Given the description of an element on the screen output the (x, y) to click on. 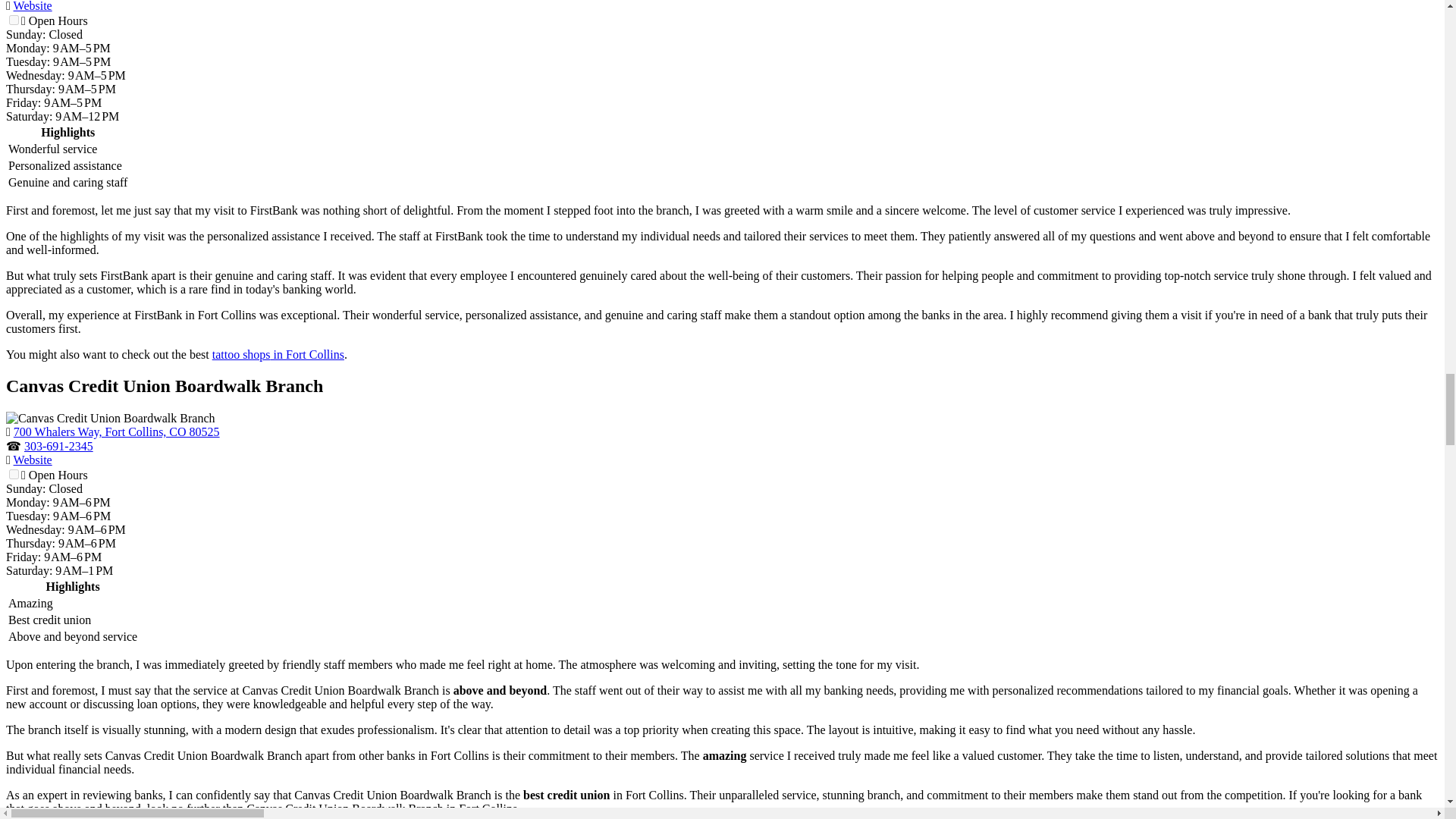
on (13, 20)
on (13, 474)
